Given the description of an element on the screen output the (x, y) to click on. 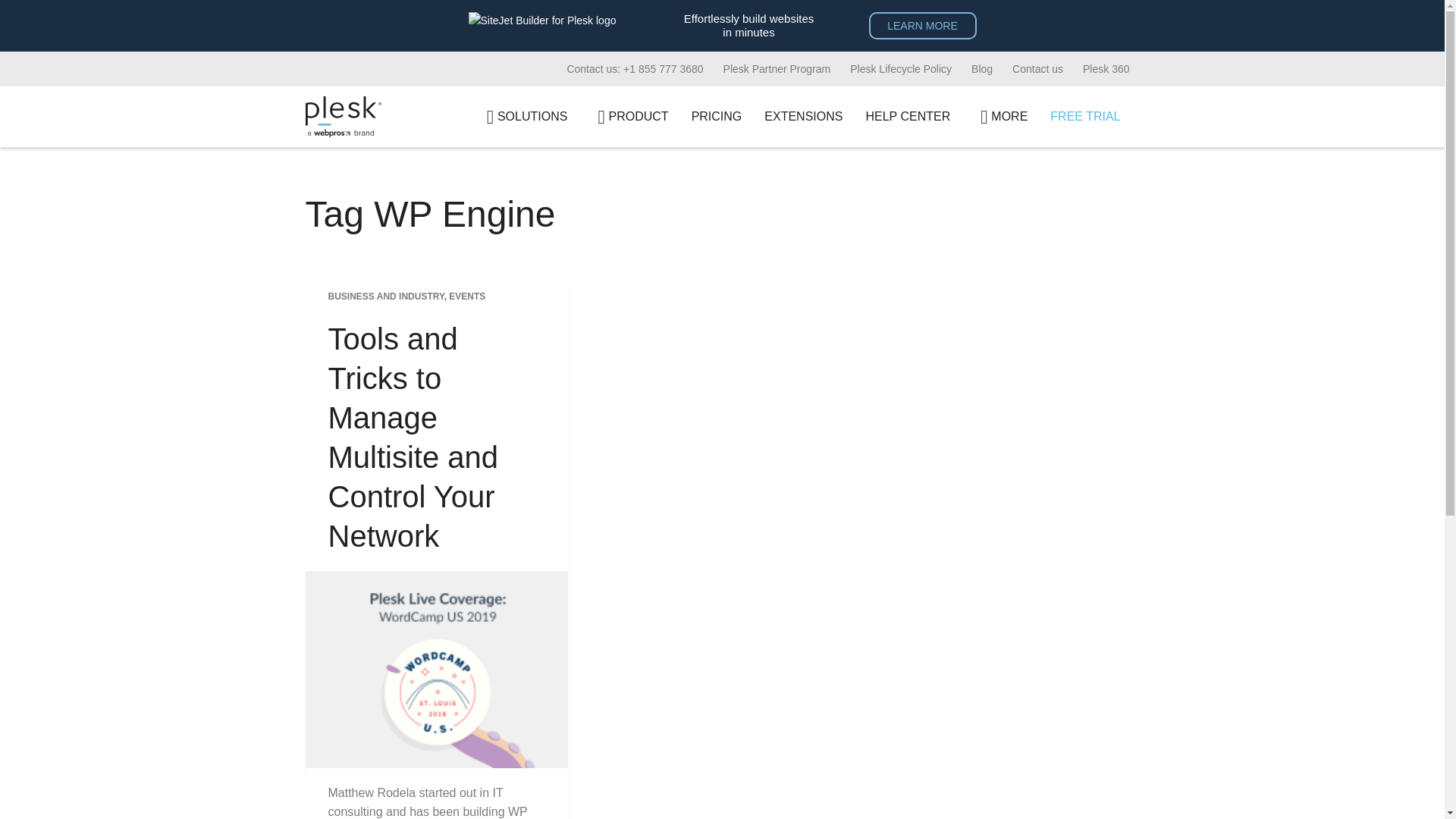
Tag WP Engine (721, 214)
SOLUTIONS (523, 116)
Blog (981, 68)
LEARN MORE (922, 25)
Plesk Lifecycle Policy (900, 68)
Plesk 360 (1105, 68)
Skip to content (15, 7)
Plesk Partner Program (777, 68)
Contact us (1038, 68)
